Given the description of an element on the screen output the (x, y) to click on. 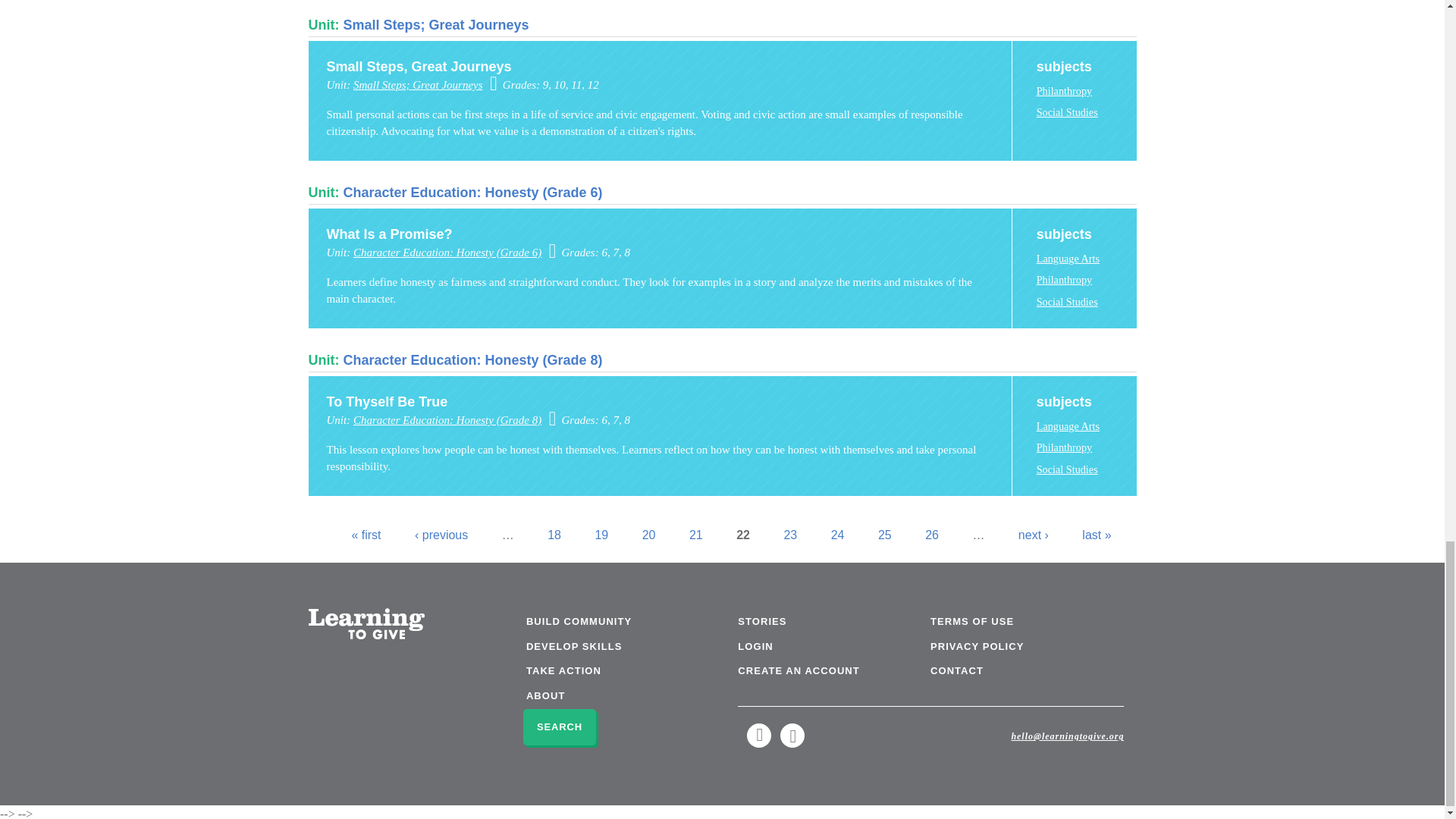
Go to page 20 (649, 534)
Go to page 19 (601, 534)
Go to first page (365, 534)
Go to page 18 (553, 534)
Go to page 21 (695, 534)
Go to previous page (440, 534)
